Given the description of an element on the screen output the (x, y) to click on. 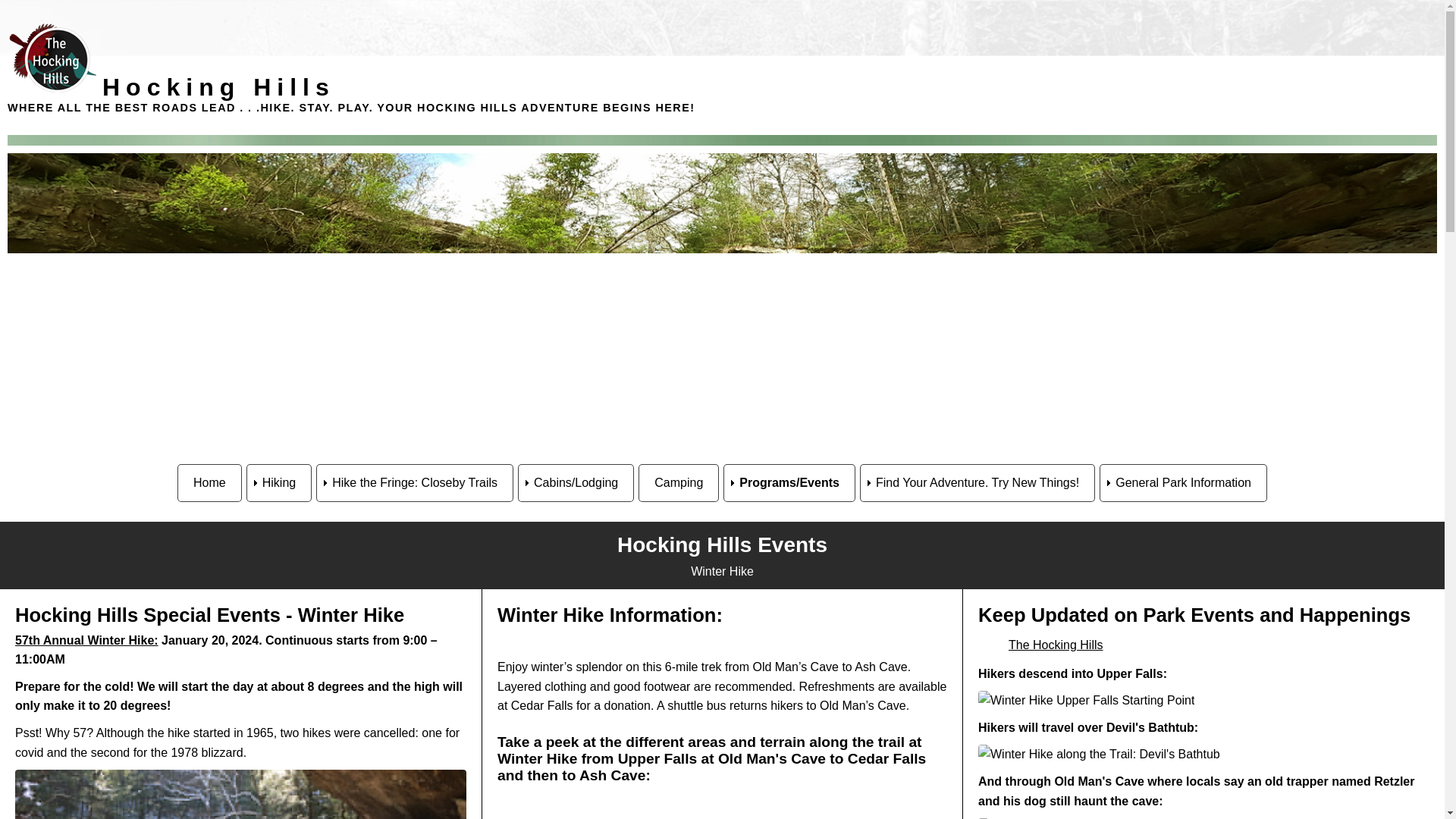
Hike the Fringe: Closeby Trails (414, 483)
Home (209, 483)
Hiking (278, 483)
Winter Hike in January at Hocking Hills State Park. (239, 794)
Camping (679, 483)
